Given the description of an element on the screen output the (x, y) to click on. 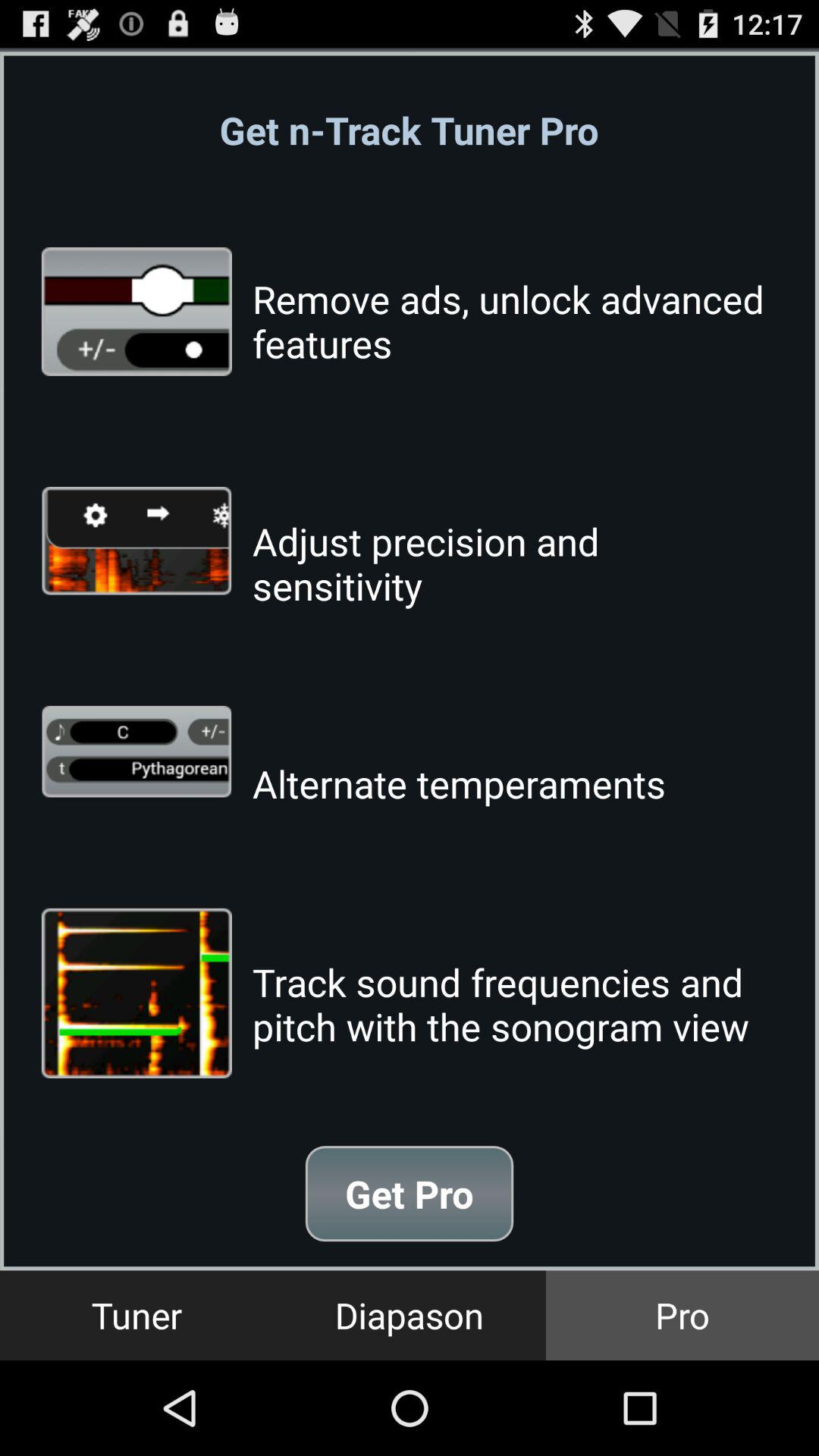
launch icon to the left of pro button (409, 1315)
